Given the description of an element on the screen output the (x, y) to click on. 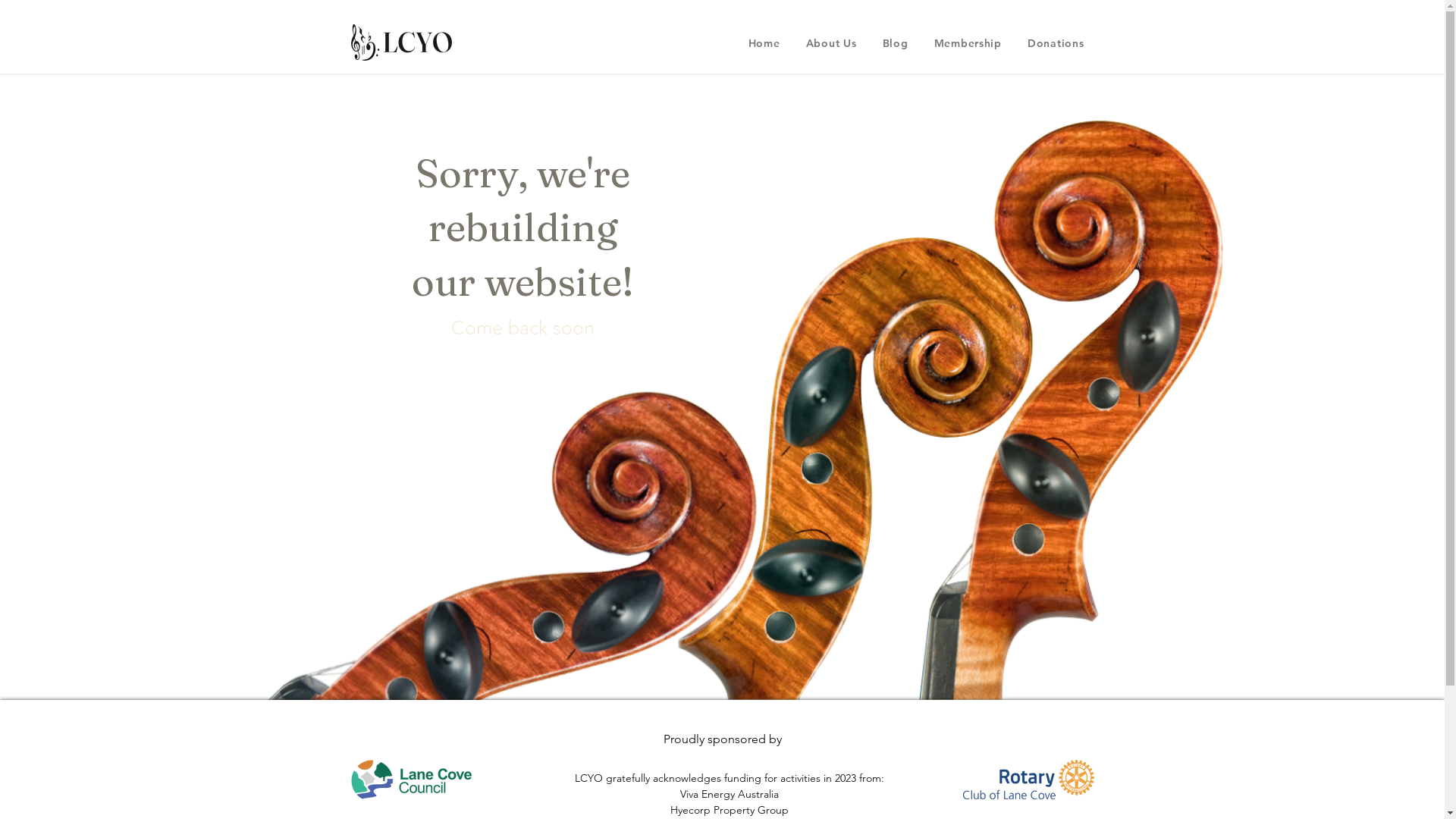
Home Element type: text (764, 42)
Donations Element type: text (1055, 42)
About Us Element type: text (831, 42)
Membership Element type: text (967, 42)
Blog Element type: text (895, 42)
